Given the description of an element on the screen output the (x, y) to click on. 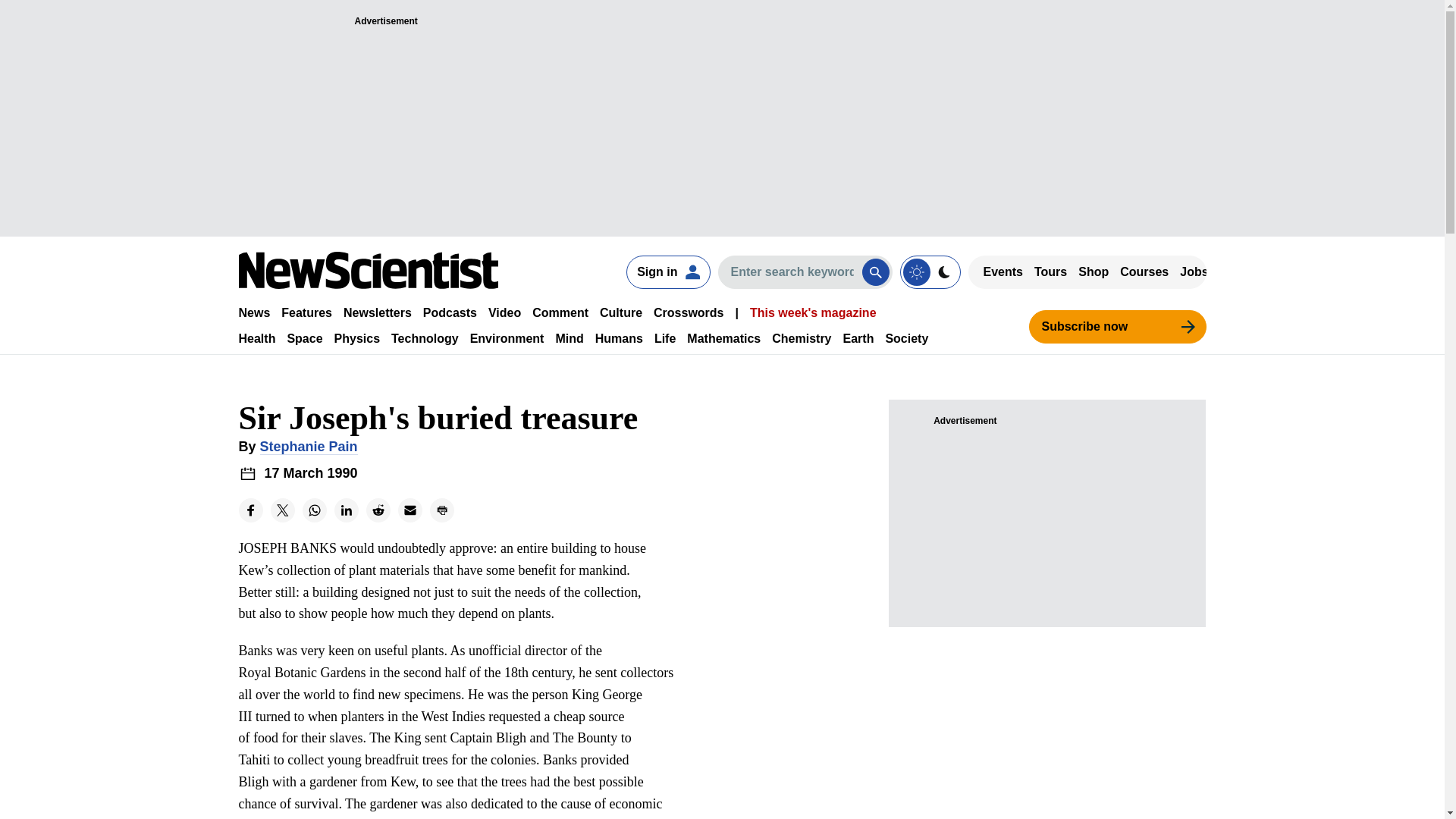
Newsletters (377, 313)
Sign In page link (668, 272)
Chemistry (801, 338)
Technology (424, 338)
Events (1002, 272)
Podcasts (450, 313)
Sign in (668, 272)
Environment (507, 338)
Shop (1093, 272)
Mind (568, 338)
